Given the description of an element on the screen output the (x, y) to click on. 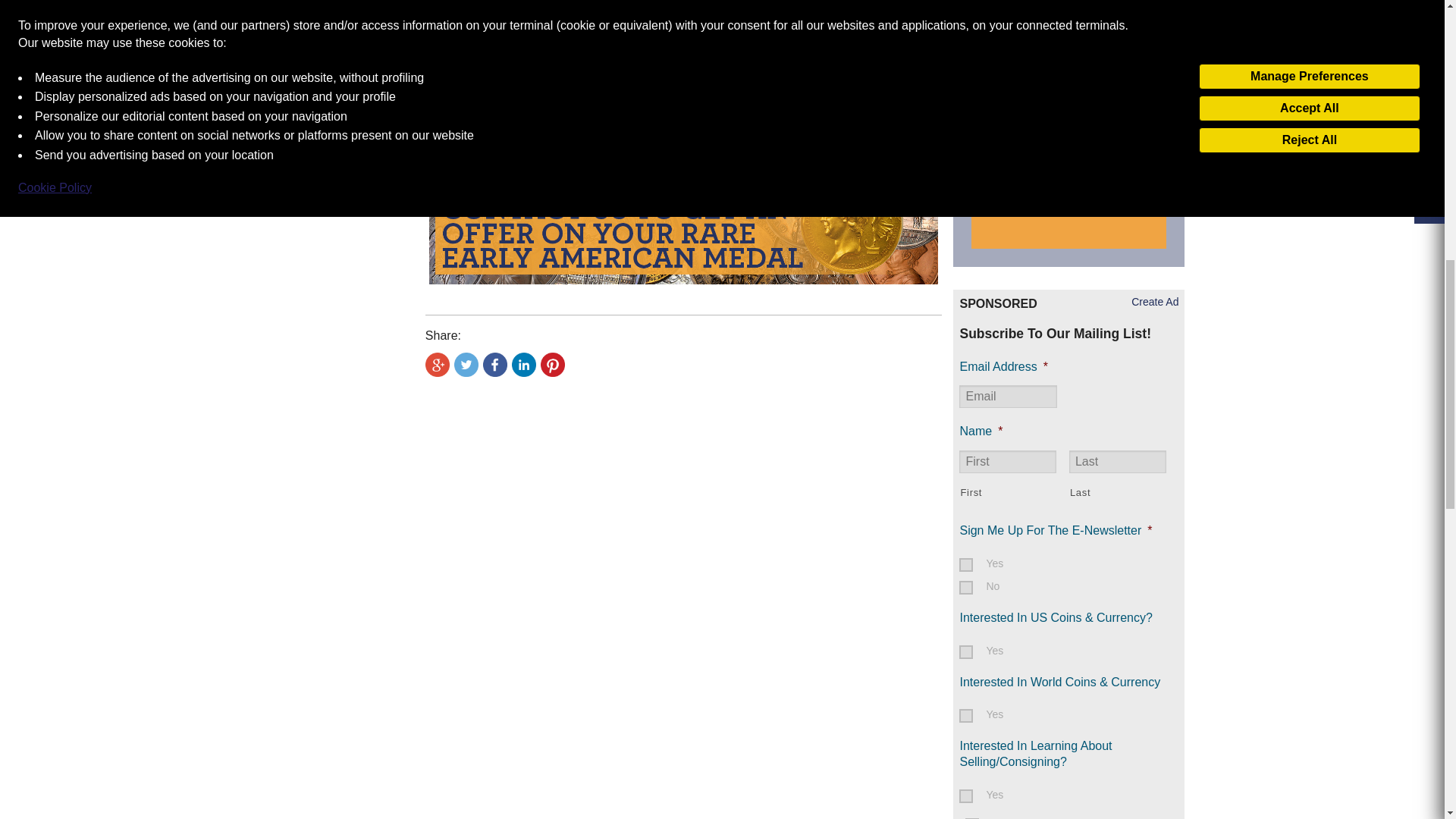
Submit (1126, 6)
